Given the description of an element on the screen output the (x, y) to click on. 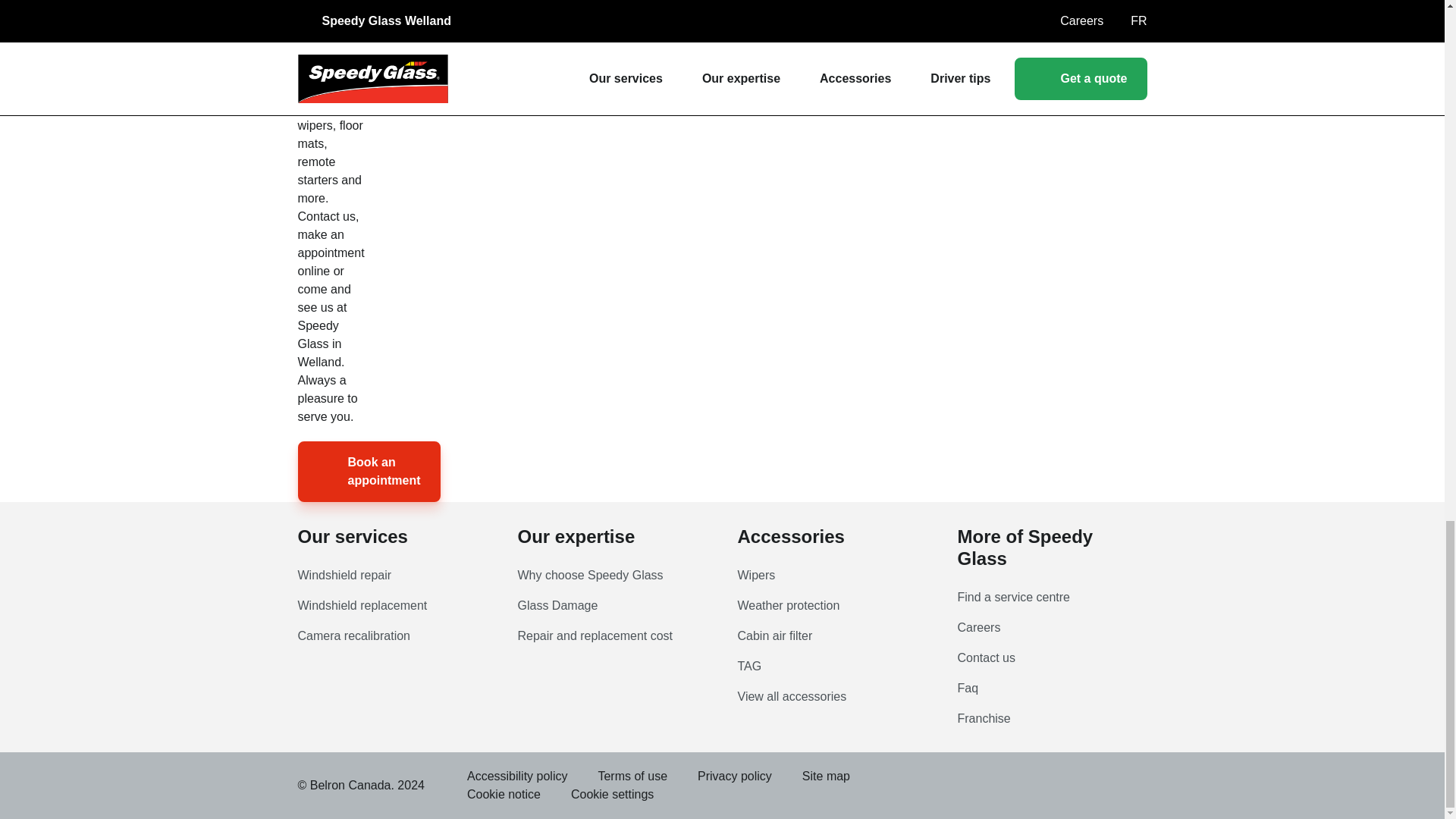
YouTube (889, 776)
